Given the description of an element on the screen output the (x, y) to click on. 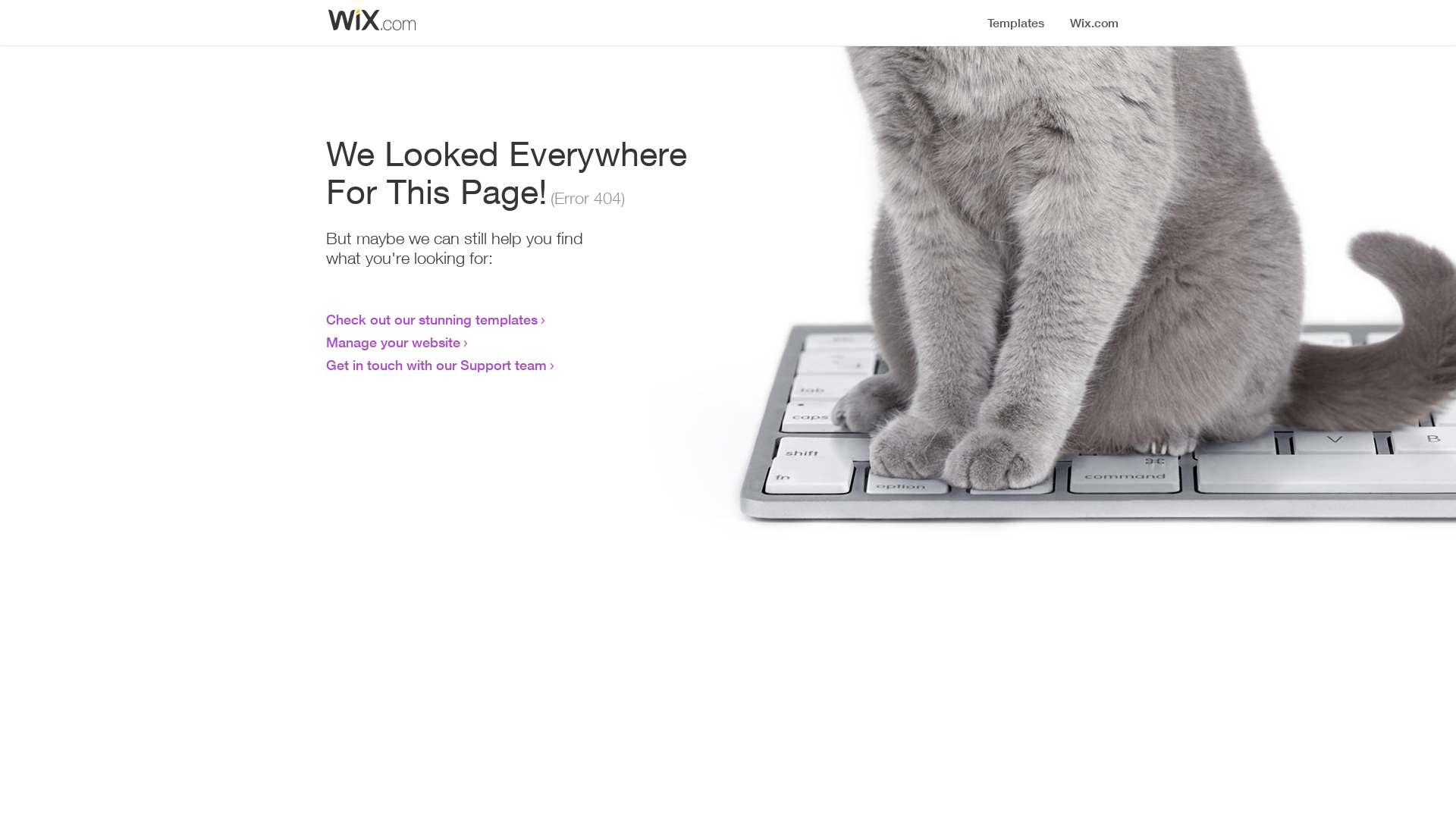
Get in touch with our Support team Element type: text (436, 364)
Manage your website Element type: text (393, 341)
Check out our stunning templates Element type: text (431, 318)
